Given the description of an element on the screen output the (x, y) to click on. 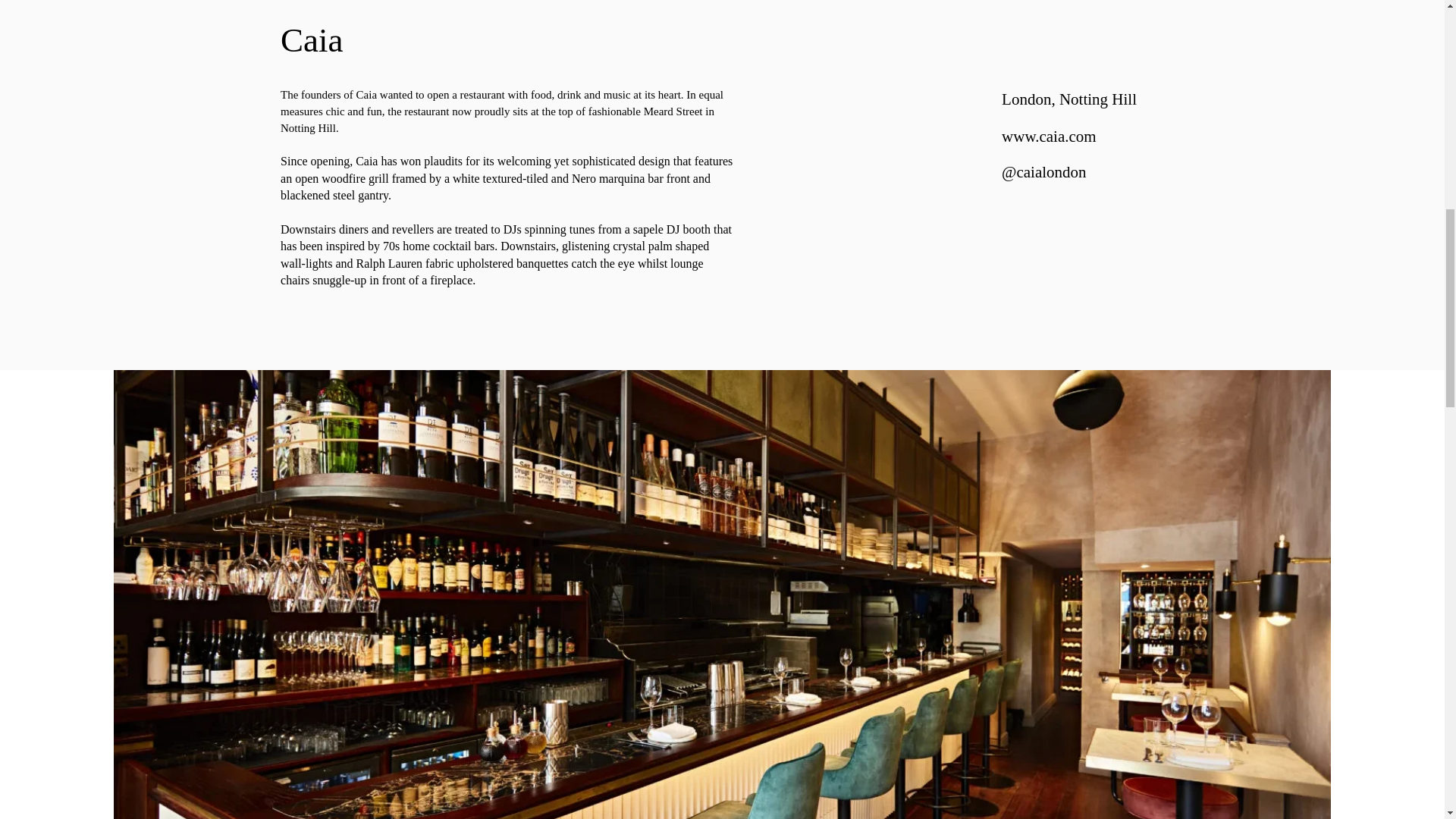
London, Notting Hill (1069, 99)
www.caia.com (1048, 135)
Caia (311, 39)
